Given the description of an element on the screen output the (x, y) to click on. 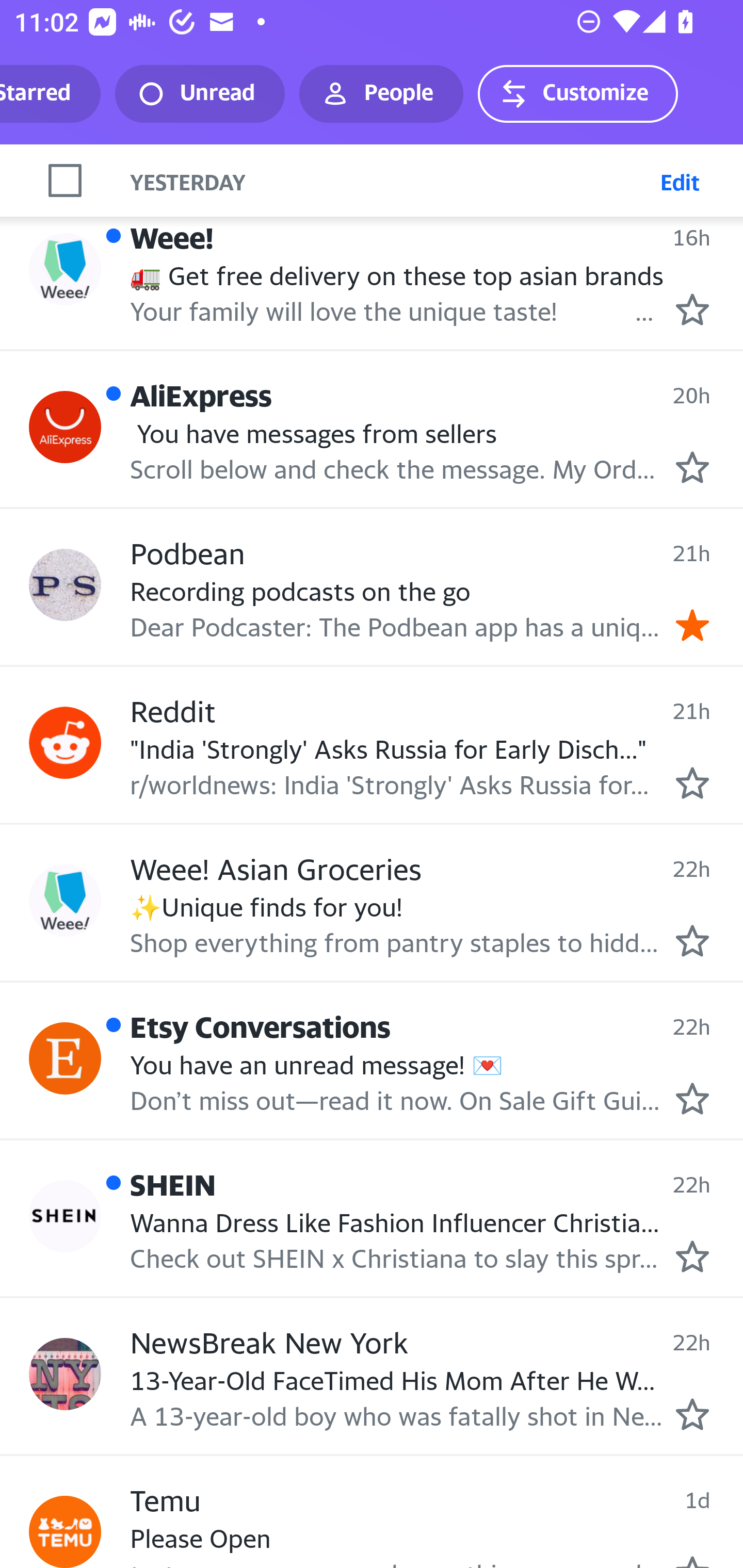
Unread (199, 93)
People (381, 93)
Customize (577, 93)
Profile
Weee! (64, 269)
Mark as starred. (692, 309)
Profile
AliExpress (64, 426)
Mark as starred. (692, 468)
Profile
Podbean (64, 584)
Remove star. (692, 624)
Profile
Reddit (64, 743)
Mark as starred. (692, 783)
Profile
Weee! Asian Groceries (64, 899)
Mark as starred. (692, 940)
Profile
Etsy Conversations (64, 1058)
Mark as starred. (692, 1098)
Profile
SHEIN (64, 1216)
Mark as starred. (692, 1256)
Profile
NewsBreak New York (64, 1373)
Mark as starred. (692, 1413)
Profile
Temu (64, 1531)
